Given the description of an element on the screen output the (x, y) to click on. 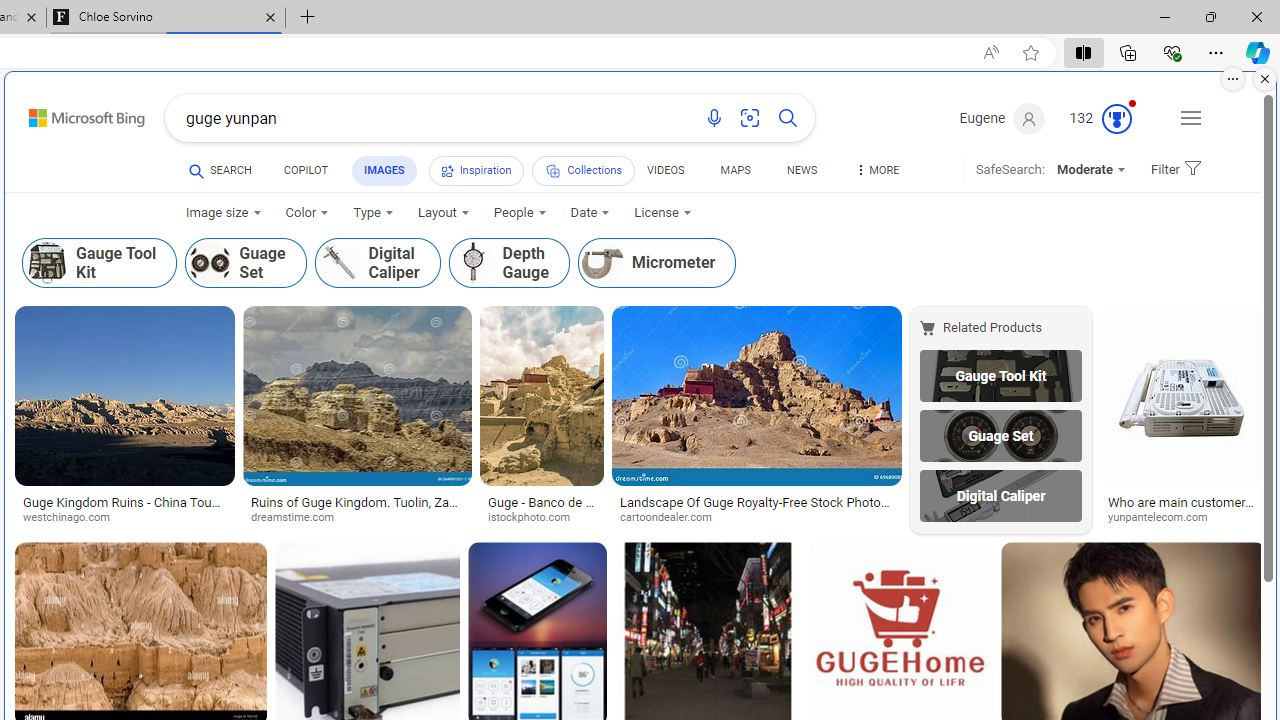
COPILOT (305, 173)
Guge Digital Caliper (1000, 496)
Class: item col (657, 263)
People (520, 213)
Search using an image (750, 117)
MAPS (734, 173)
NEWS (801, 173)
SEARCH (219, 170)
Image result for guge yunpan (1182, 396)
